Given the description of an element on the screen output the (x, y) to click on. 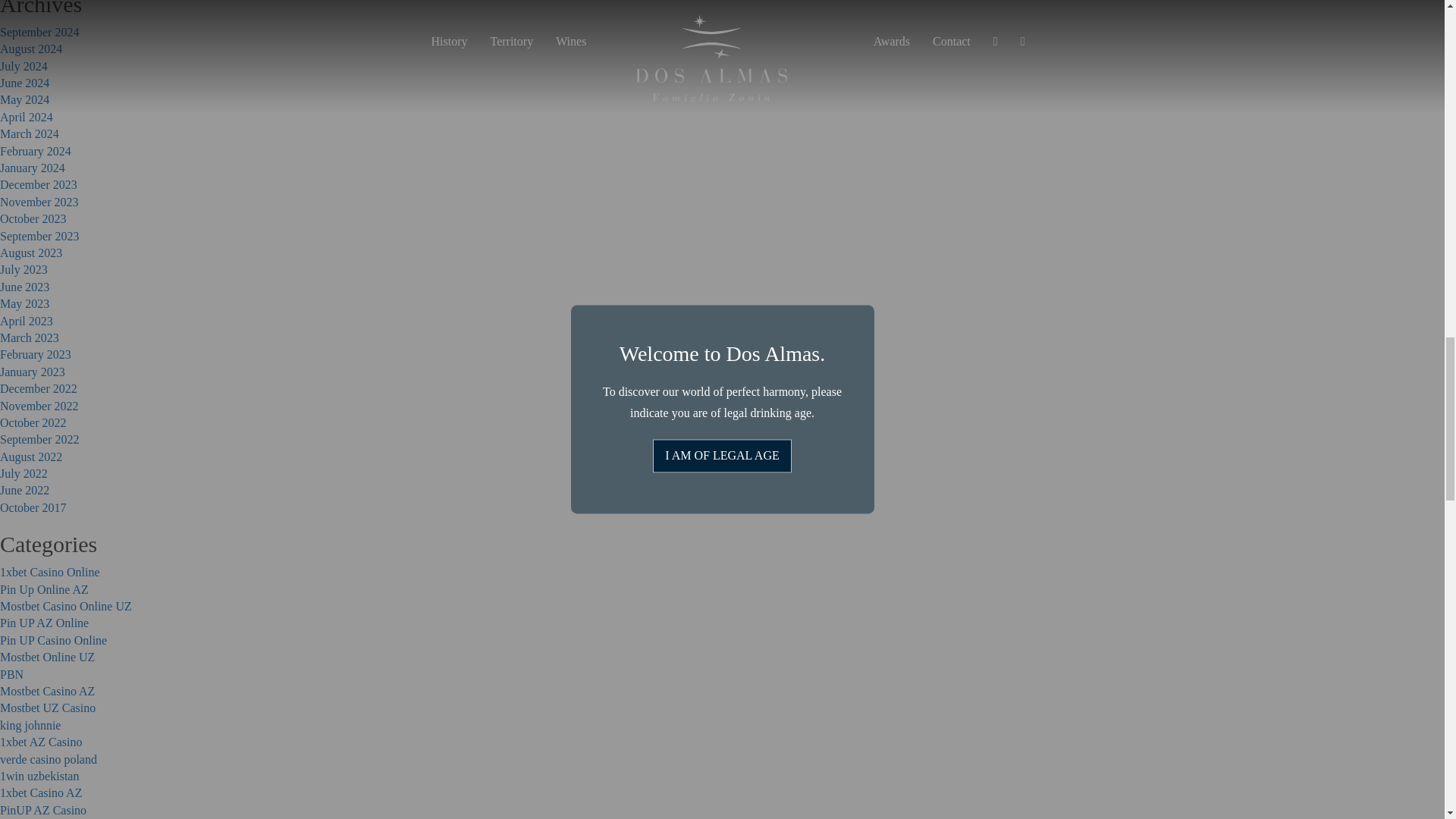
August 2024 (31, 48)
July 2024 (24, 65)
June 2024 (24, 82)
September 2024 (39, 31)
May 2024 (24, 99)
April 2024 (26, 116)
